Given the description of an element on the screen output the (x, y) to click on. 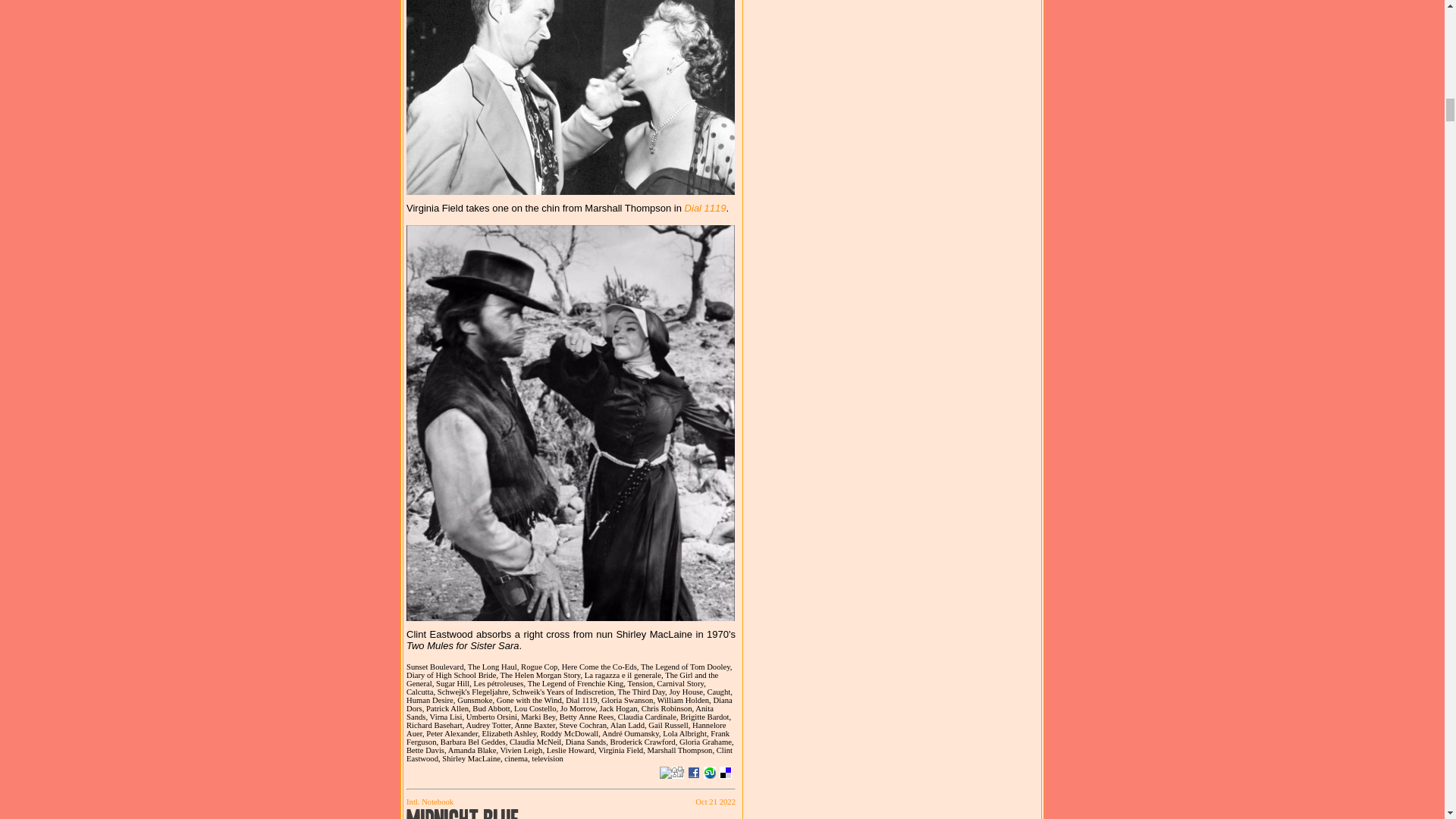
The Long Haul (494, 666)
The Third Day (643, 691)
Gunsmoke (476, 700)
Diary of High School Bride (453, 674)
Caught (719, 691)
The Legend of Tom Dooley (686, 666)
Joy House (687, 691)
Sugar Hill (454, 683)
Sunset Boulevard (436, 666)
William Holden (685, 700)
La ragazza e il generale (625, 674)
Diana Dors (569, 704)
Schwejk's Flegeljahre (475, 691)
The Legend of Frenchie King (577, 683)
